Given the description of an element on the screen output the (x, y) to click on. 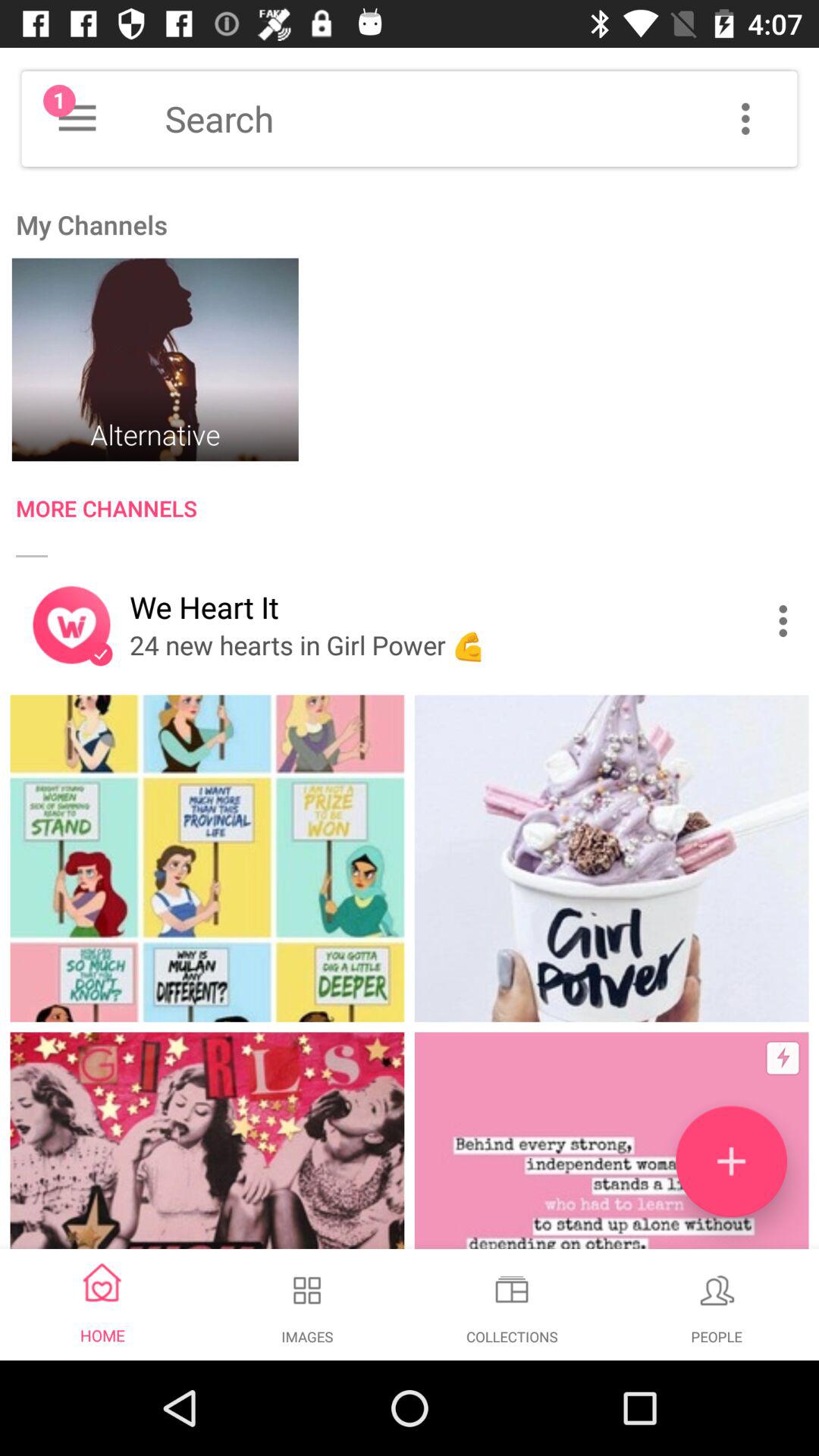
turn on more channels item (417, 512)
